Given the description of an element on the screen output the (x, y) to click on. 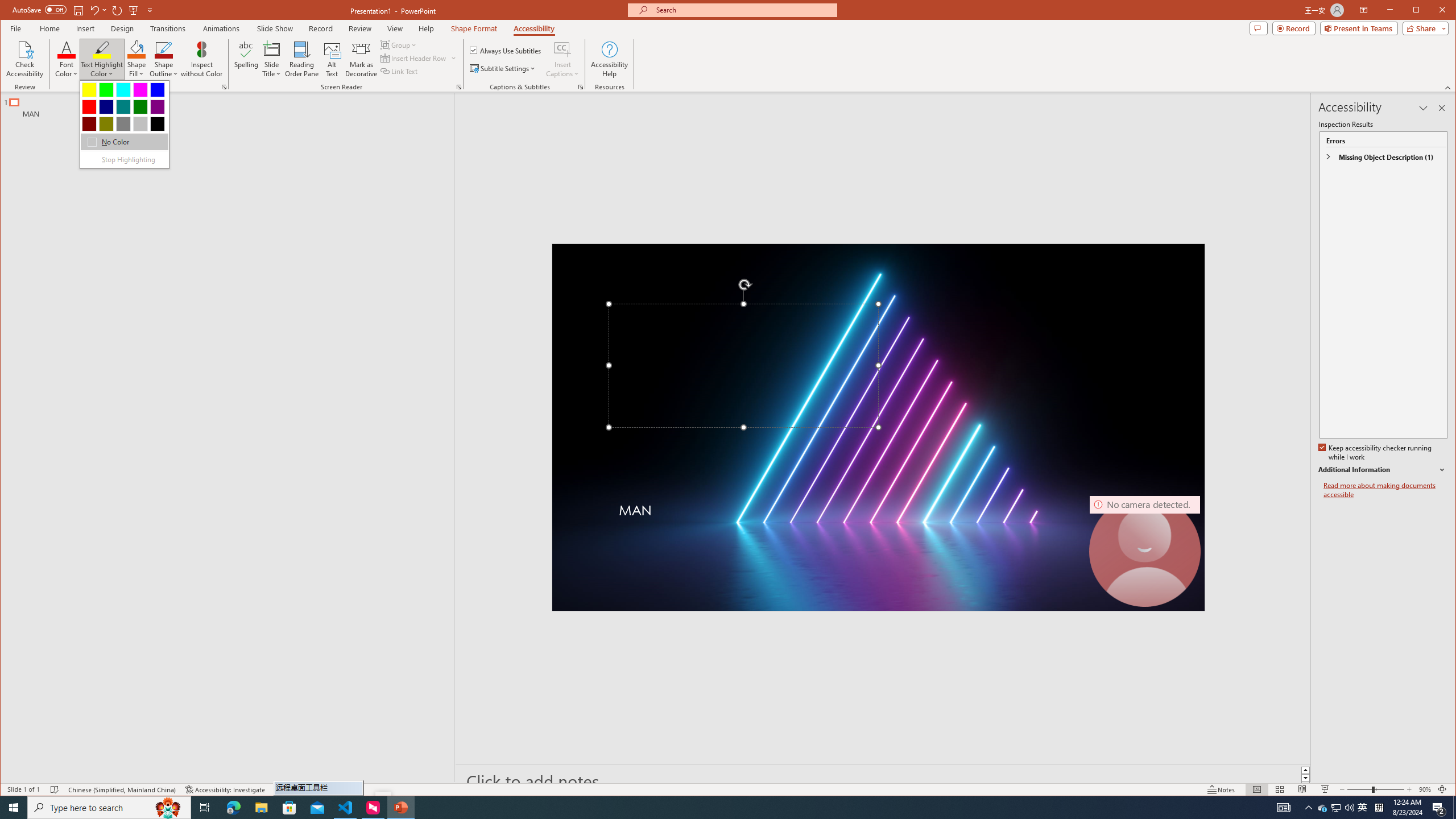
Shape Fill Orange, Accent 2 (136, 48)
Color & Contrast (223, 86)
Neon laser lights aligned to form a triangle (877, 427)
Inspect without Color (201, 59)
Mark as Decorative (360, 59)
